Given the description of an element on the screen output the (x, y) to click on. 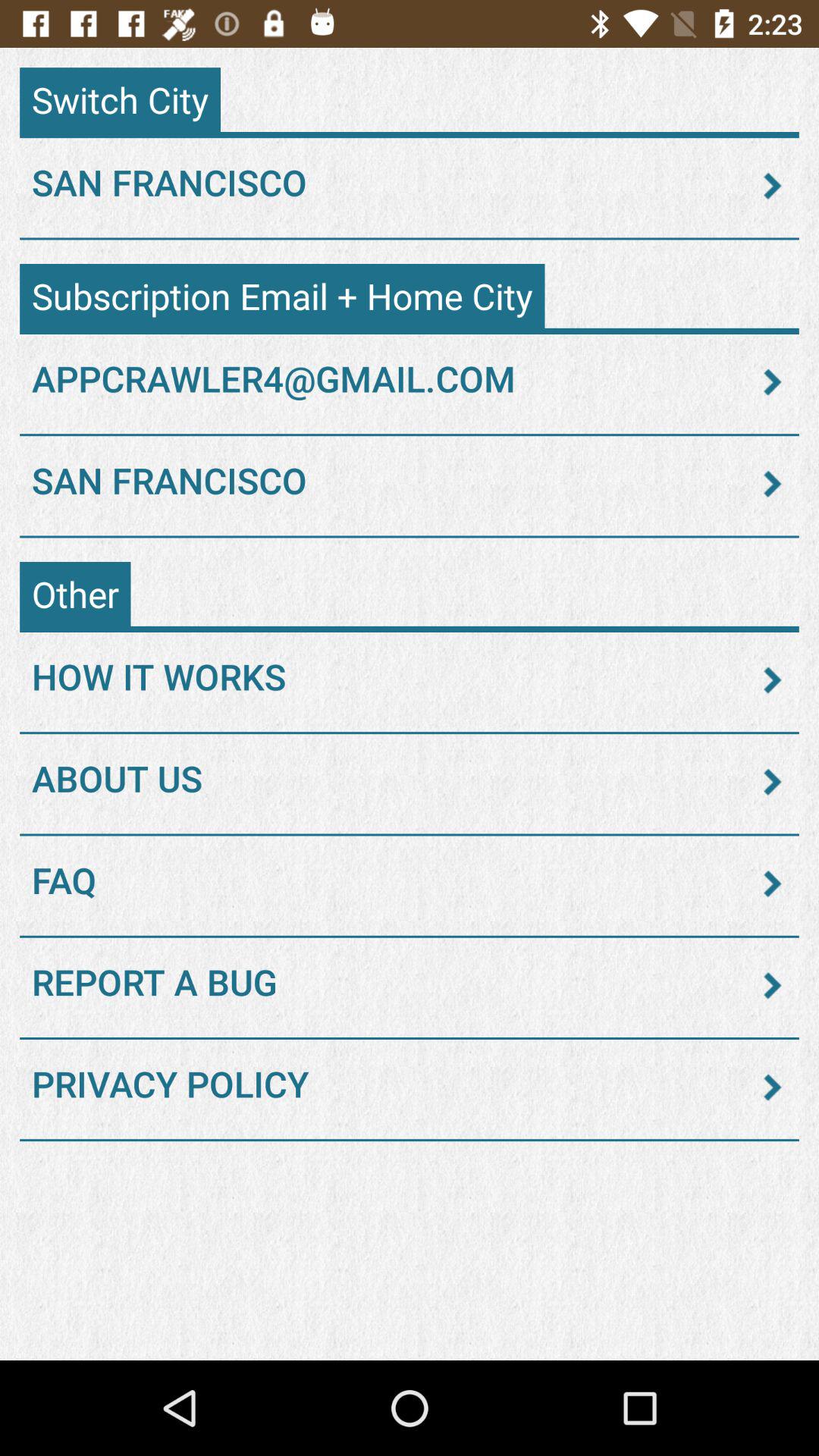
open the faq item (409, 883)
